Given the description of an element on the screen output the (x, y) to click on. 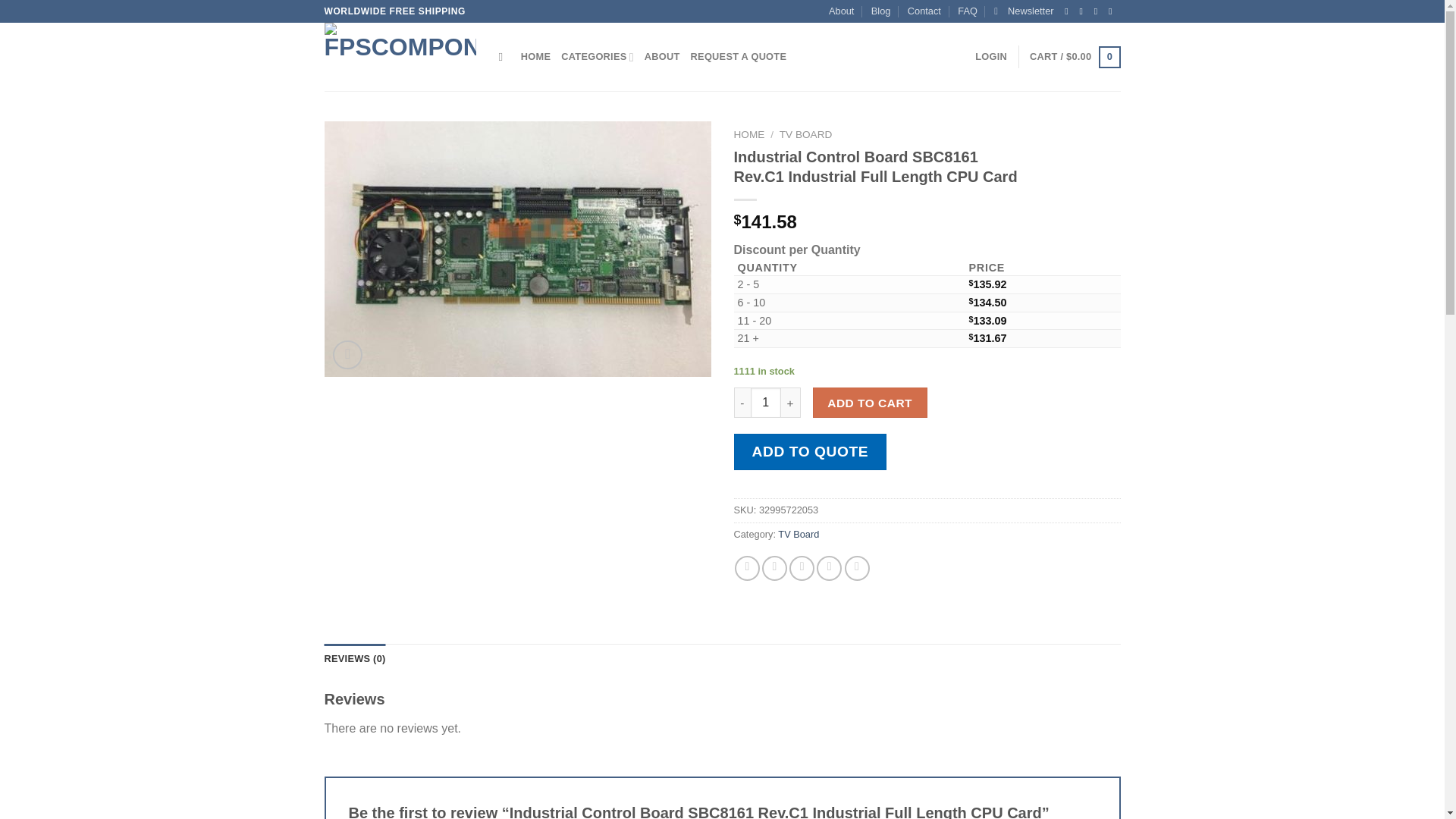
REQUEST A QUOTE (738, 56)
LOGIN (991, 56)
ABOUT (662, 56)
HOME (535, 56)
fpscomponents.com - Computer Parts, Server IT Hardware (400, 56)
Cart (1074, 57)
1 (765, 402)
Login (991, 56)
Zoom (347, 355)
Newsletter (1023, 11)
CATEGORIES (596, 56)
Contact (923, 11)
About (840, 11)
Sign up for Newsletter (1023, 11)
